Given the description of an element on the screen output the (x, y) to click on. 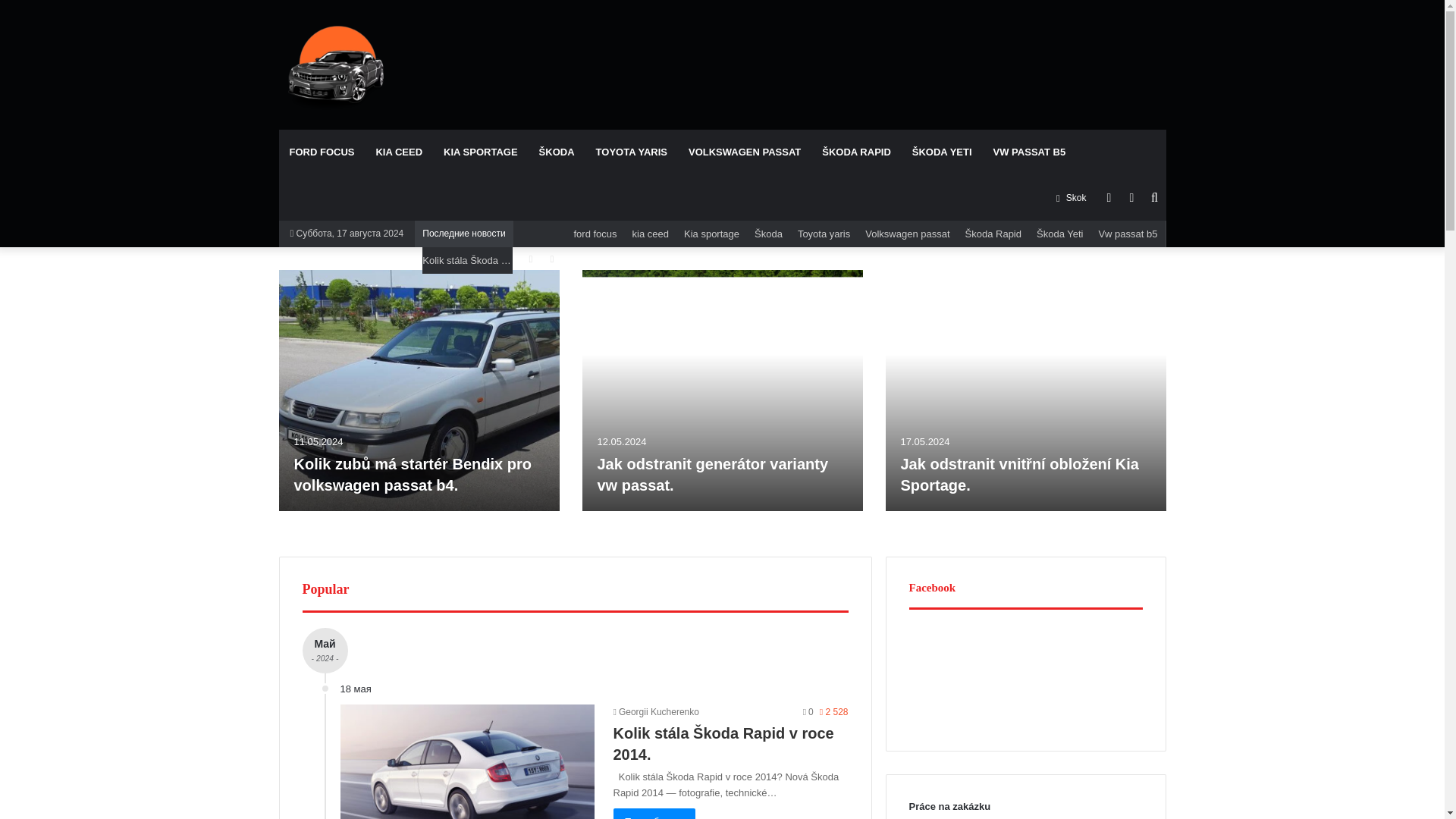
TOYOTA YARIS (631, 152)
VW PASSAT B5 (1029, 152)
Toyota yaris (823, 233)
Vw passat b5 (1127, 233)
VOLKSWAGEN PASSAT (744, 152)
Georgii Kucherenko (655, 711)
KIA CEED (398, 152)
ford focus (595, 233)
Skok (1071, 197)
dannymeta.com (336, 64)
